Given the description of an element on the screen output the (x, y) to click on. 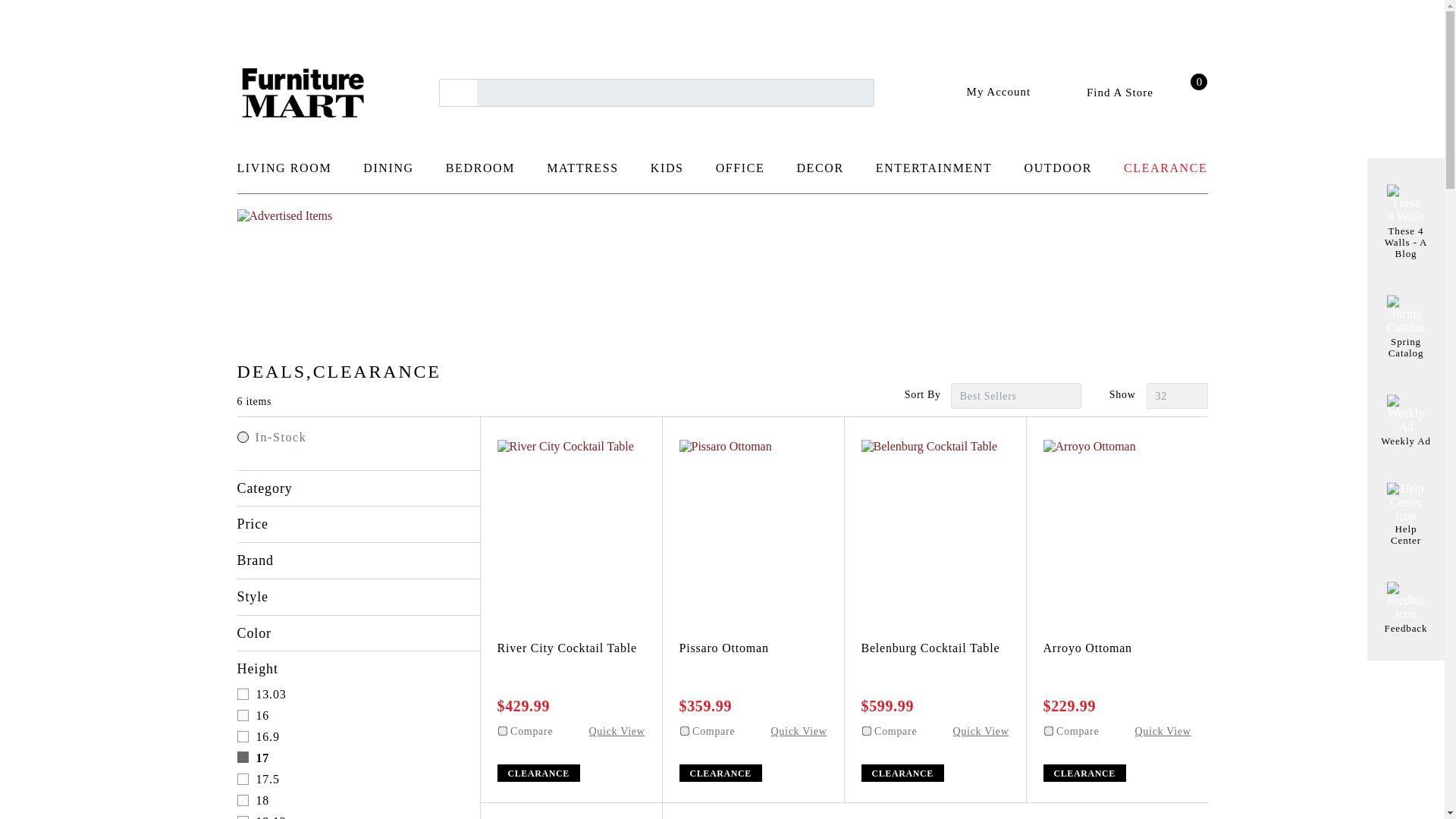
DINING (387, 173)
Advertised Items (721, 265)
The Furniture Mart (301, 92)
Pissaro Ottoman (753, 513)
My Account (987, 92)
BEDROOM (480, 173)
Add to wishlist (1052, 449)
0 (1189, 92)
Add to wishlist (1052, 449)
Add to wishlist (870, 449)
LIVING ROOM (283, 173)
Belenburg Cocktail Table (935, 513)
Add to wishlist (870, 449)
Add to wishlist (506, 449)
Add to wishlist (688, 449)
